Given the description of an element on the screen output the (x, y) to click on. 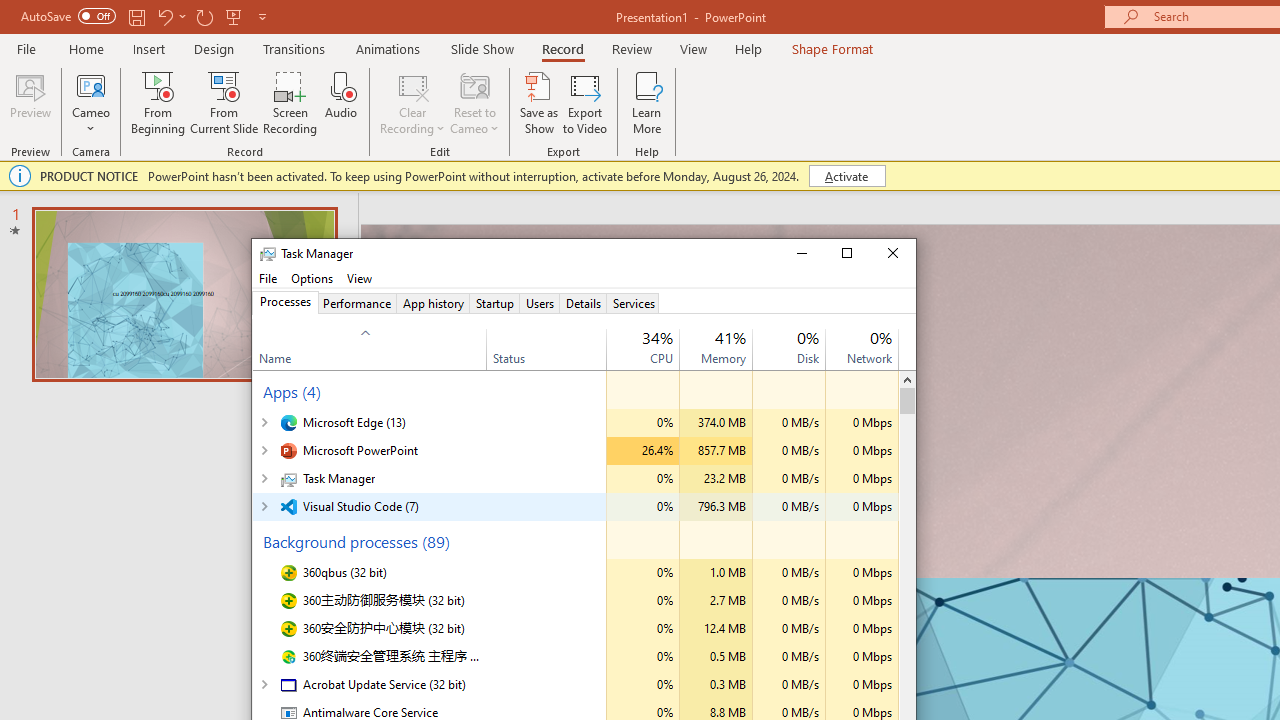
Application (584, 278)
Users (539, 303)
Services (633, 303)
1% (807, 336)
41% (729, 336)
App history (432, 303)
Performance (356, 303)
